Given the description of an element on the screen output the (x, y) to click on. 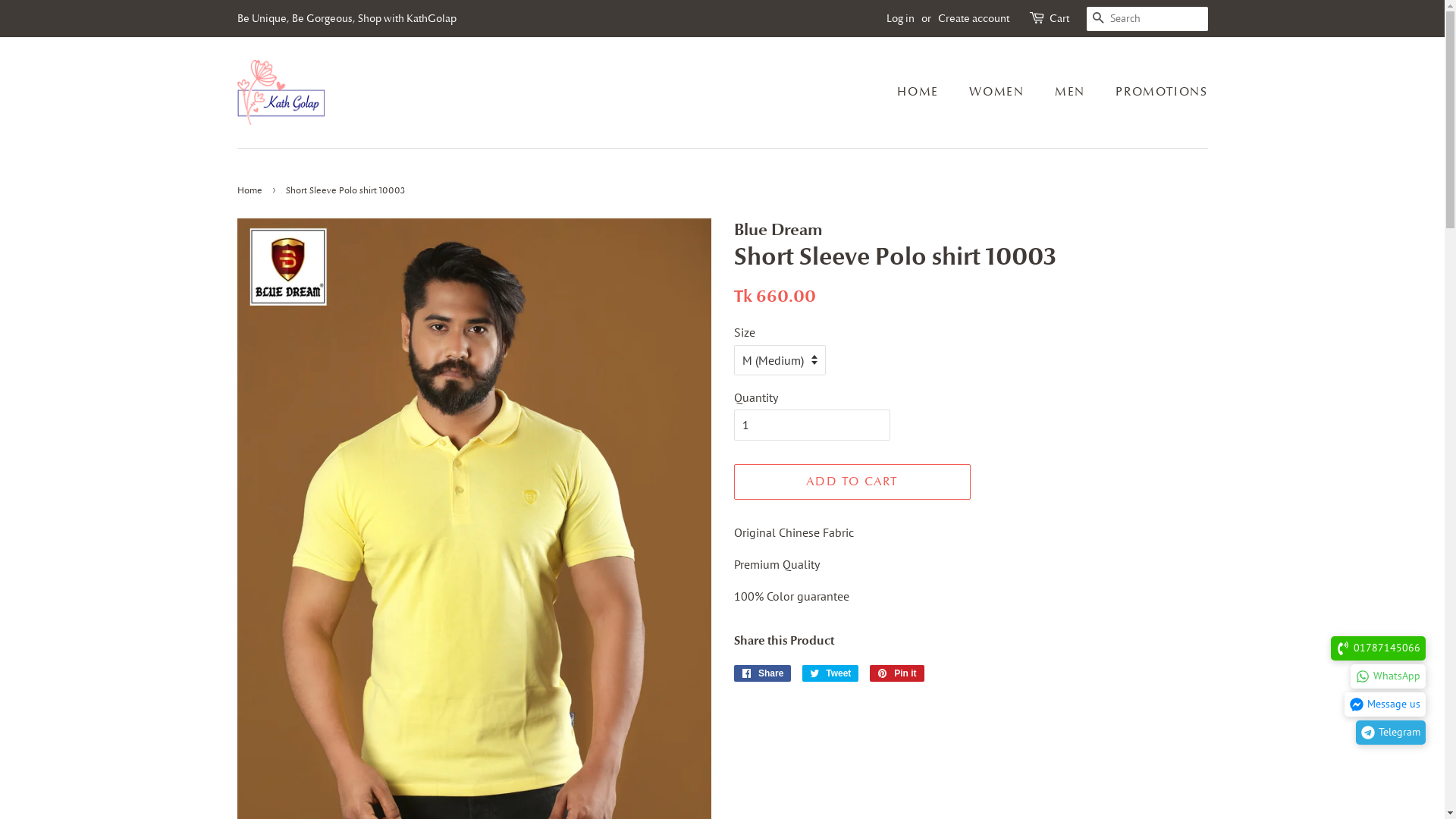
WOMEN Element type: text (997, 91)
PROMOTIONS Element type: text (1155, 91)
Message us Element type: text (1384, 704)
Tweet
Tweet on Twitter Element type: text (830, 673)
WhatsApp Element type: text (1387, 676)
Log in Element type: text (899, 18)
Create account Element type: text (972, 18)
Home Element type: text (250, 190)
01787145066 Element type: text (1377, 648)
HOME Element type: text (925, 91)
MEN Element type: text (1071, 91)
Pin it
Pin on Pinterest Element type: text (896, 673)
Telegram Element type: text (1390, 732)
SEARCH Element type: text (1097, 18)
Be Unique, Be Gorgeous, Shop with KathGolap Element type: text (345, 18)
ADD TO CART Element type: text (852, 481)
Share
Share on Facebook Element type: text (762, 673)
Cart Element type: text (1059, 18)
